Given the description of an element on the screen output the (x, y) to click on. 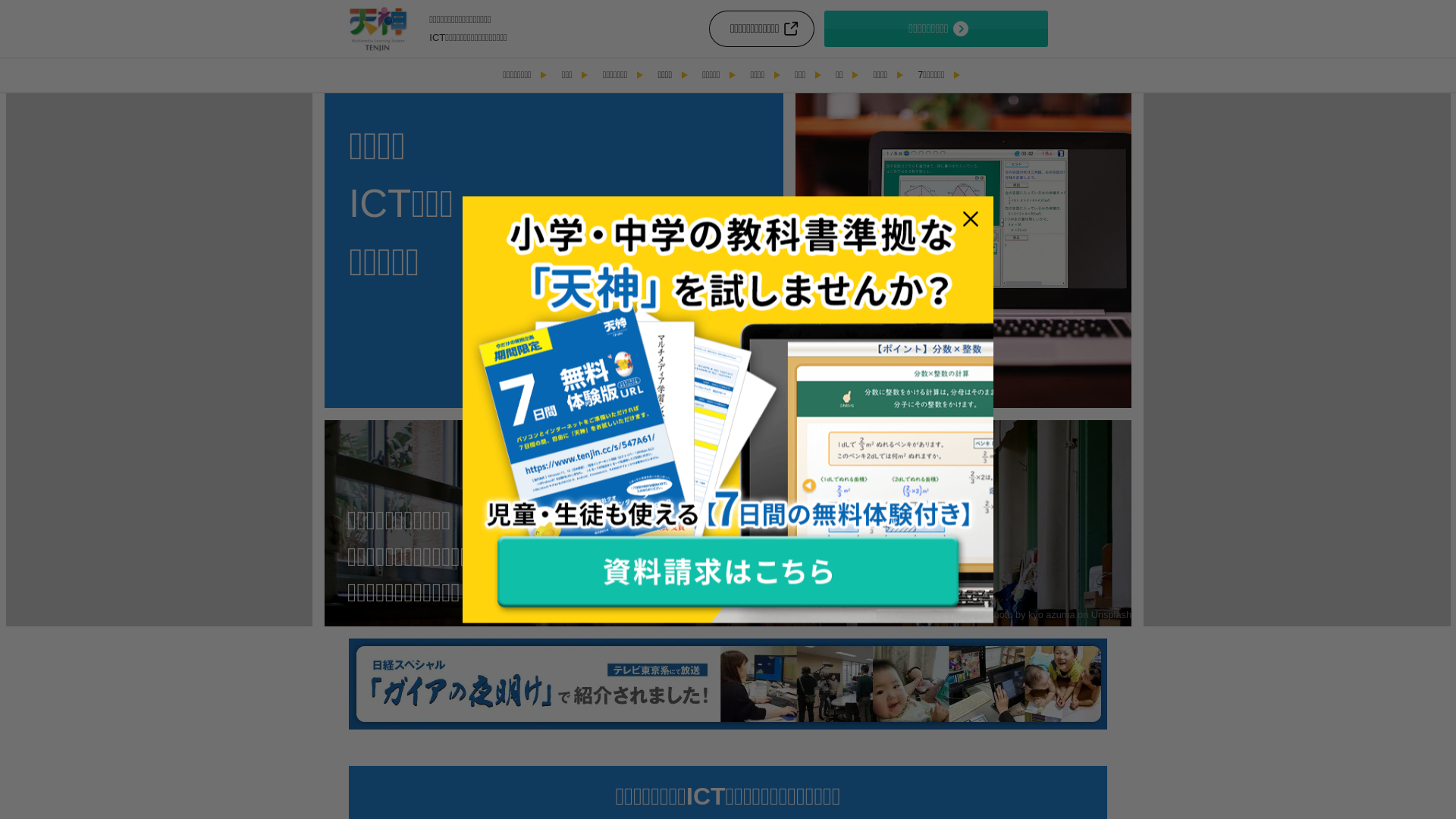
search Element type: text (927, 421)
